Given the description of an element on the screen output the (x, y) to click on. 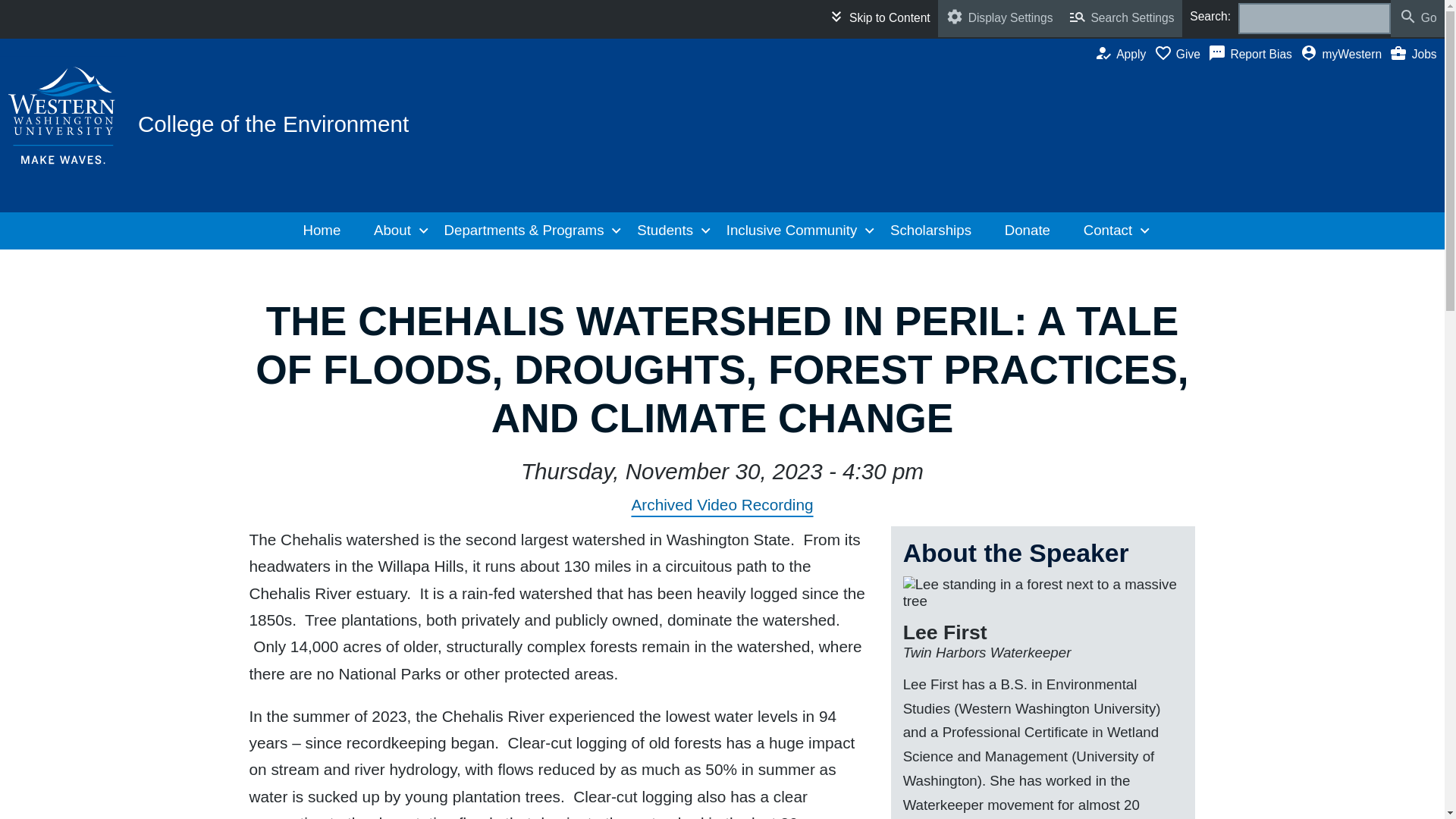
Display Settings (999, 18)
Search Settings (1121, 18)
Home (326, 231)
College of the Environment (273, 123)
Apply (62, 124)
Skip to Content (1124, 55)
About (877, 18)
Give (396, 231)
myWestern (1181, 55)
Western Logo (1344, 55)
Report Bias (63, 115)
